Given the description of an element on the screen output the (x, y) to click on. 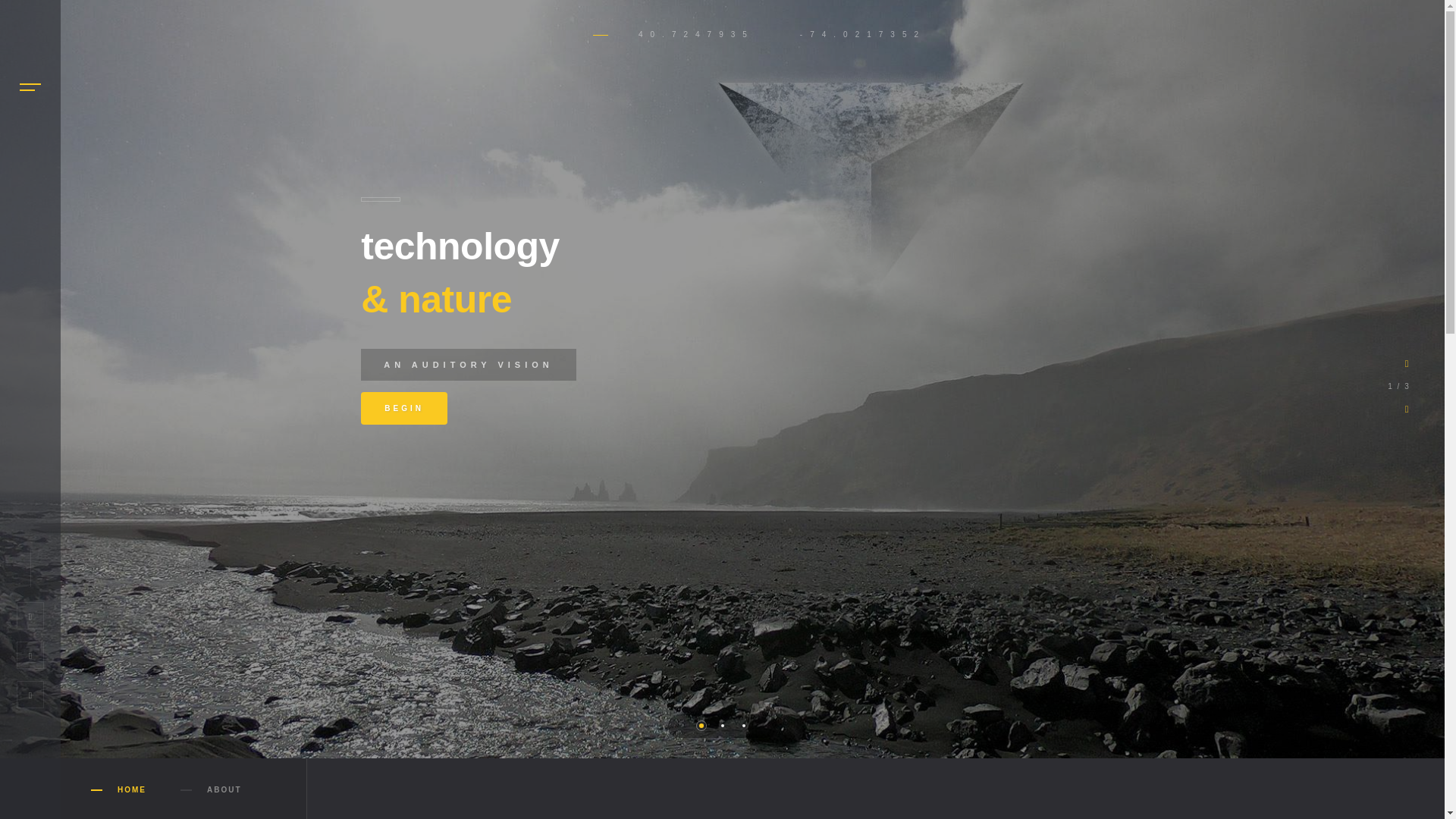
Sign up (1150, 570)
HOME (131, 789)
2 (722, 725)
ABOUT (223, 789)
Sign up (1150, 570)
HOME (131, 789)
BEGIN (403, 408)
1 (700, 725)
ABOUT (223, 789)
FOLLOW (495, 555)
3 (743, 725)
BEGIN (403, 408)
